Given the description of an element on the screen output the (x, y) to click on. 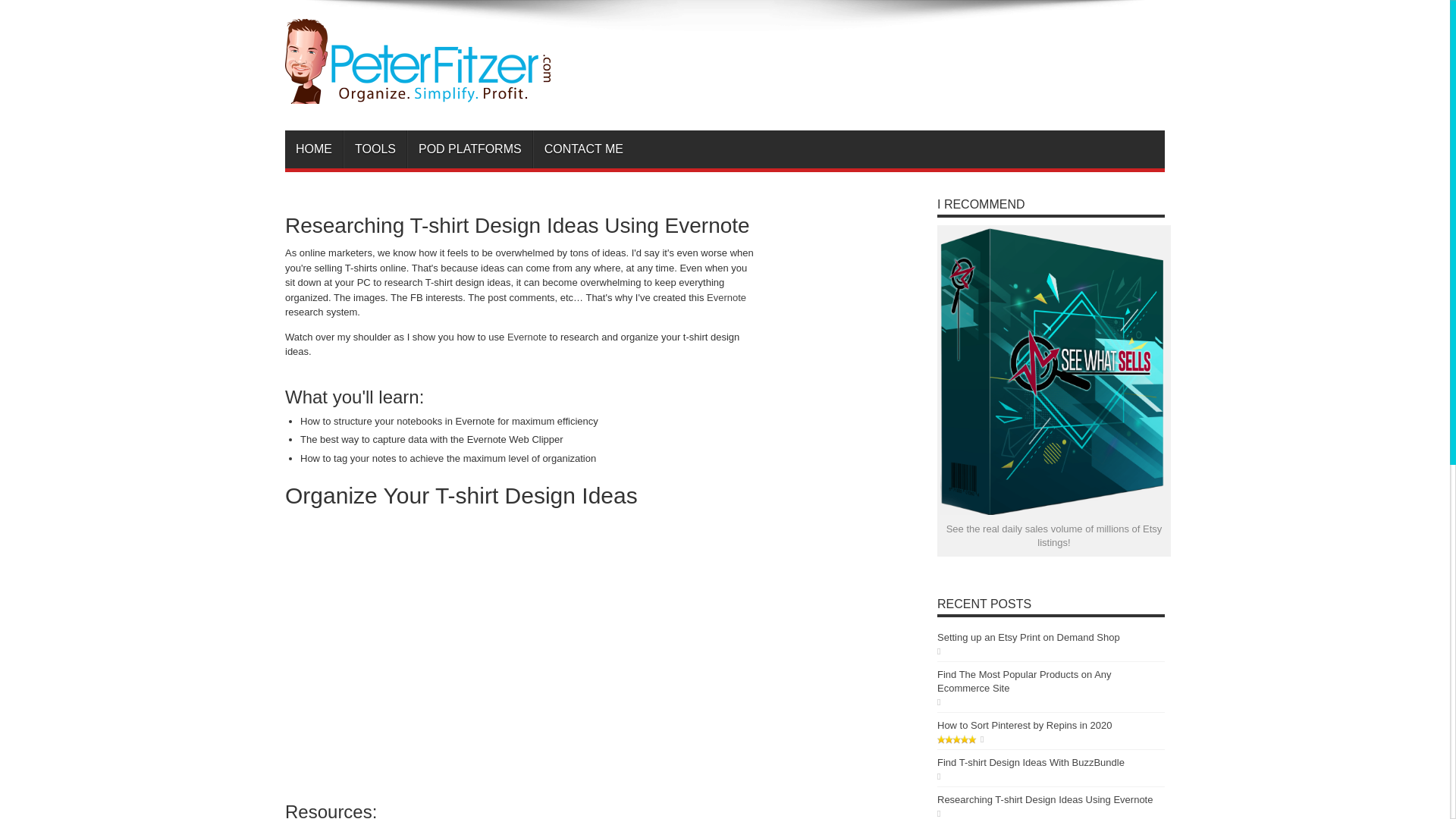
Create an Evernote Account (725, 296)
Evernote (725, 296)
POD PLATFORMS (469, 149)
Create an Evernote Account (526, 336)
Setting up an Etsy Print on Demand Shop (1028, 636)
Evernote (526, 336)
Find The Most Popular Products on Any Ecommerce Site (1024, 681)
HOME (313, 149)
Researching T-shirt Design Ideas Using Evernote (1045, 799)
Find T-shirt Design Ideas With BuzzBundle (1030, 762)
